Given the description of an element on the screen output the (x, y) to click on. 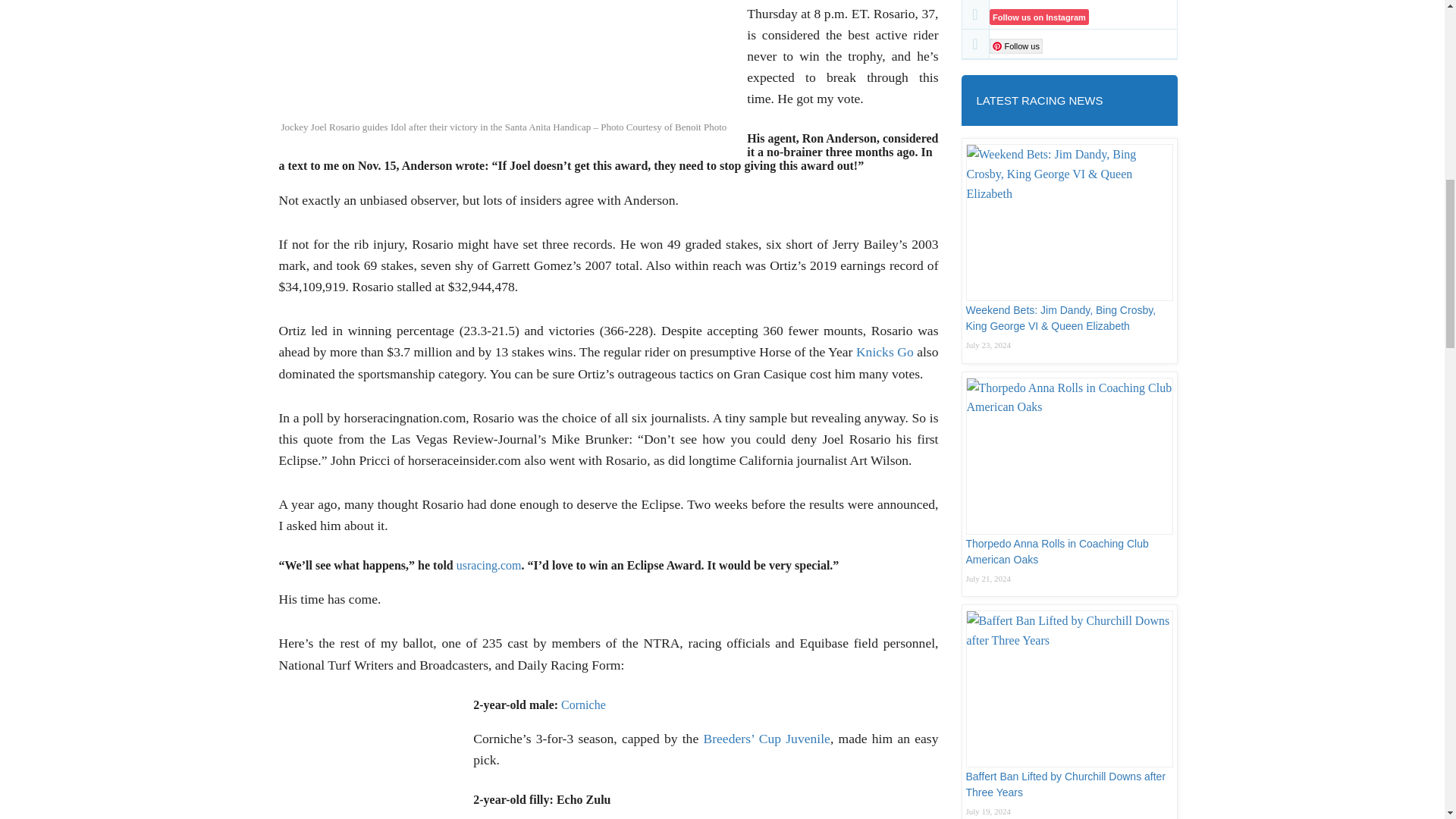
Corniche (582, 704)
usracing.com (489, 564)
Knicks Go (885, 351)
